Given the description of an element on the screen output the (x, y) to click on. 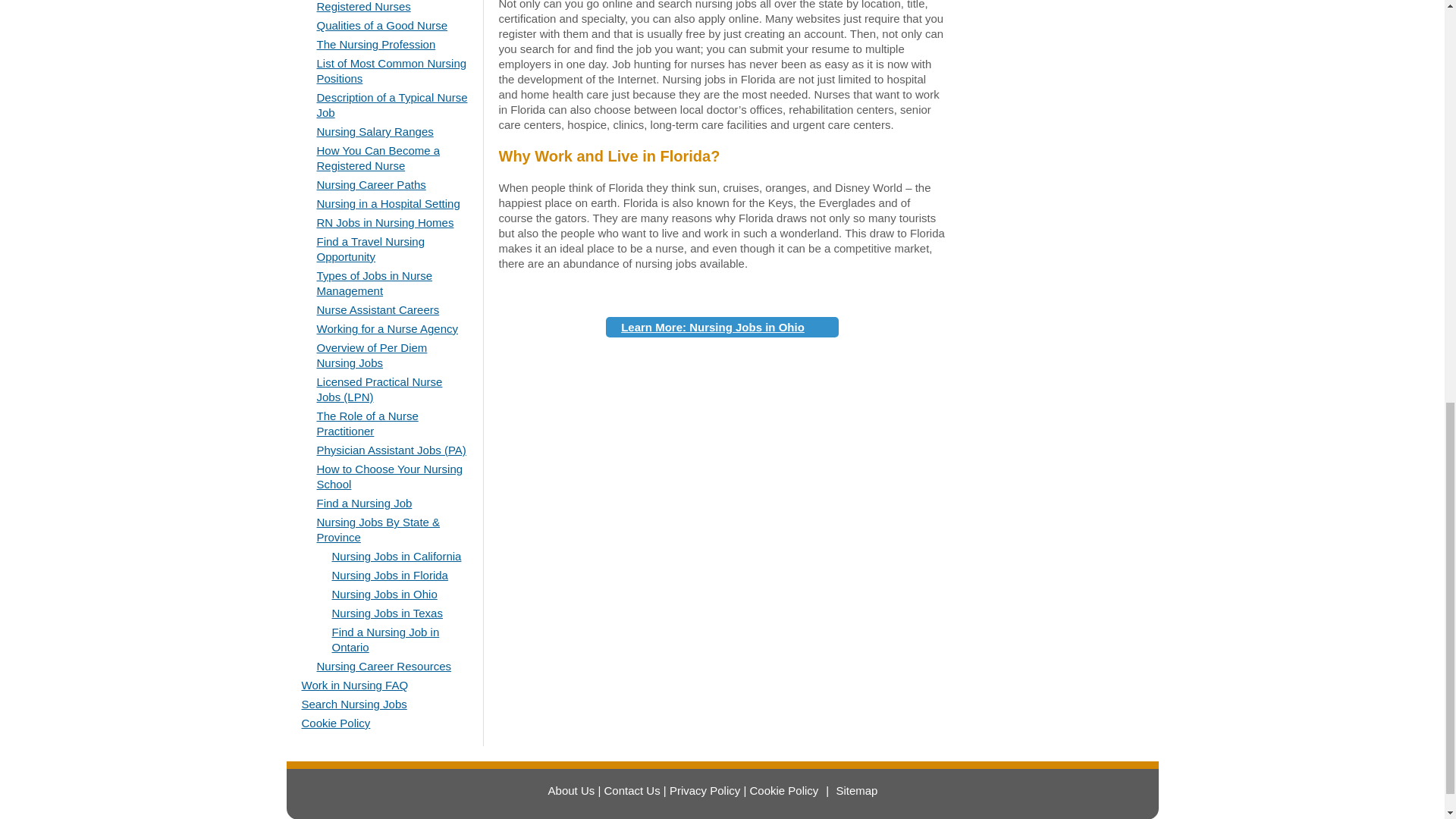
Nursing Salary Ranges (375, 131)
List of Most Common Nursing Positions (392, 70)
Description of a Typical Nurse Job (392, 104)
Qualities of a Good Nurse (382, 24)
The Nursing Profession (376, 43)
Learn More: Nursing Jobs in Ohio (721, 326)
How You Can Become a Registered Nurse (379, 157)
